Given the description of an element on the screen output the (x, y) to click on. 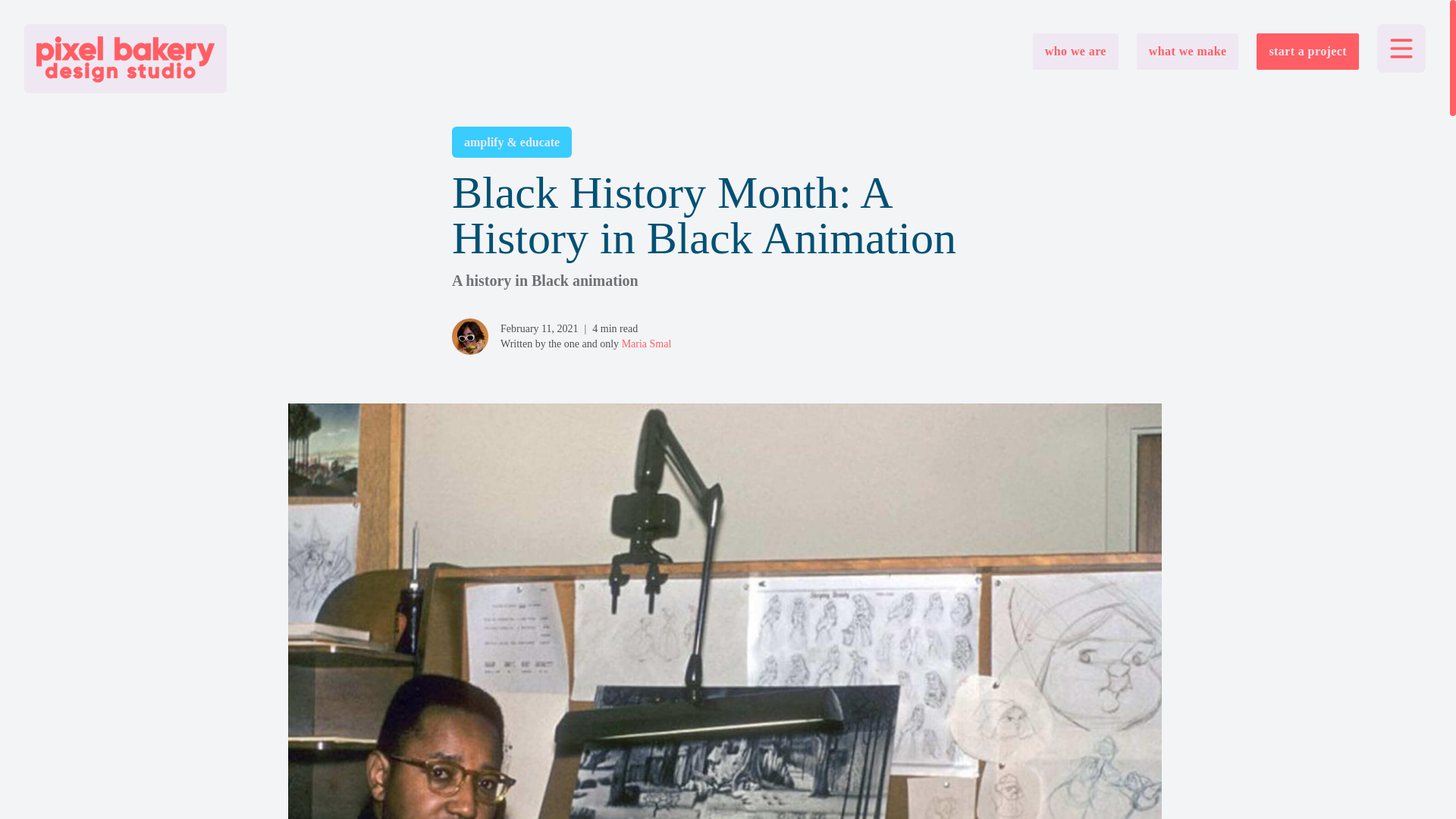
who we are (1075, 51)
start a project (1307, 51)
Home (125, 58)
Maria Smal (646, 343)
what we make (1188, 51)
